Given the description of an element on the screen output the (x, y) to click on. 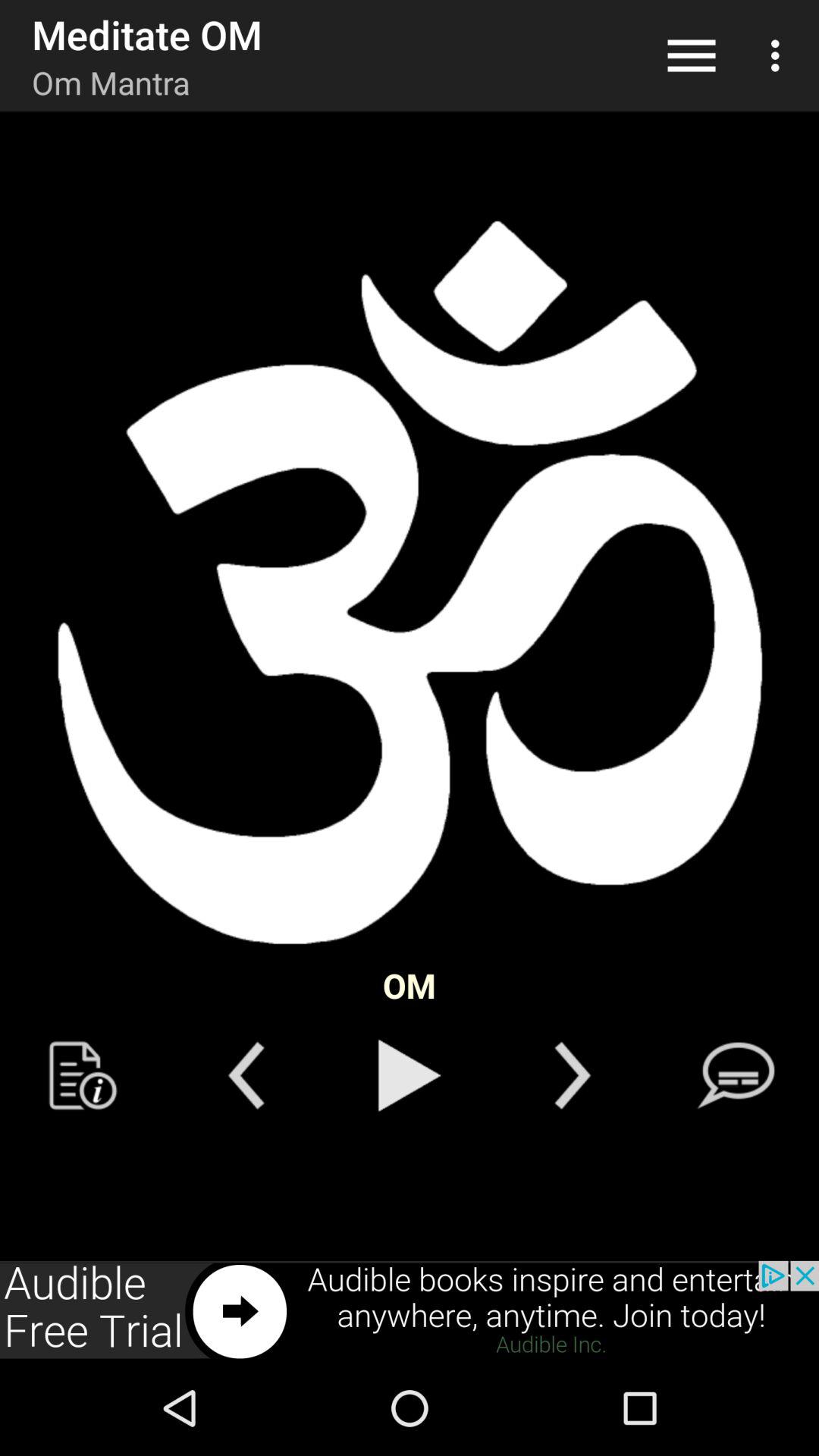
play this audio or video (409, 1075)
